Given the description of an element on the screen output the (x, y) to click on. 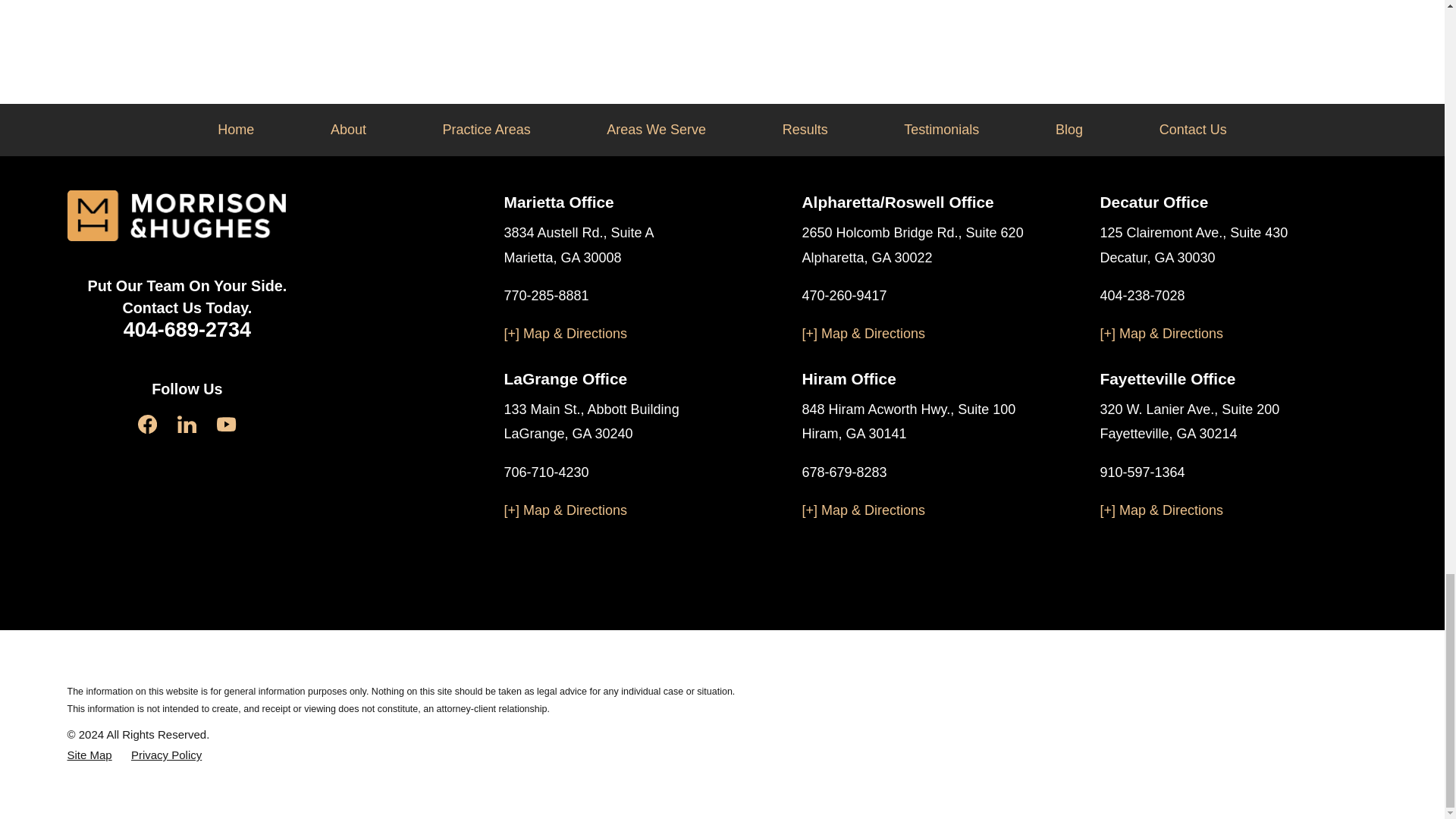
Home (175, 215)
YouTube (225, 424)
Facebook (147, 424)
LinkedIn (186, 424)
